Given the description of an element on the screen output the (x, y) to click on. 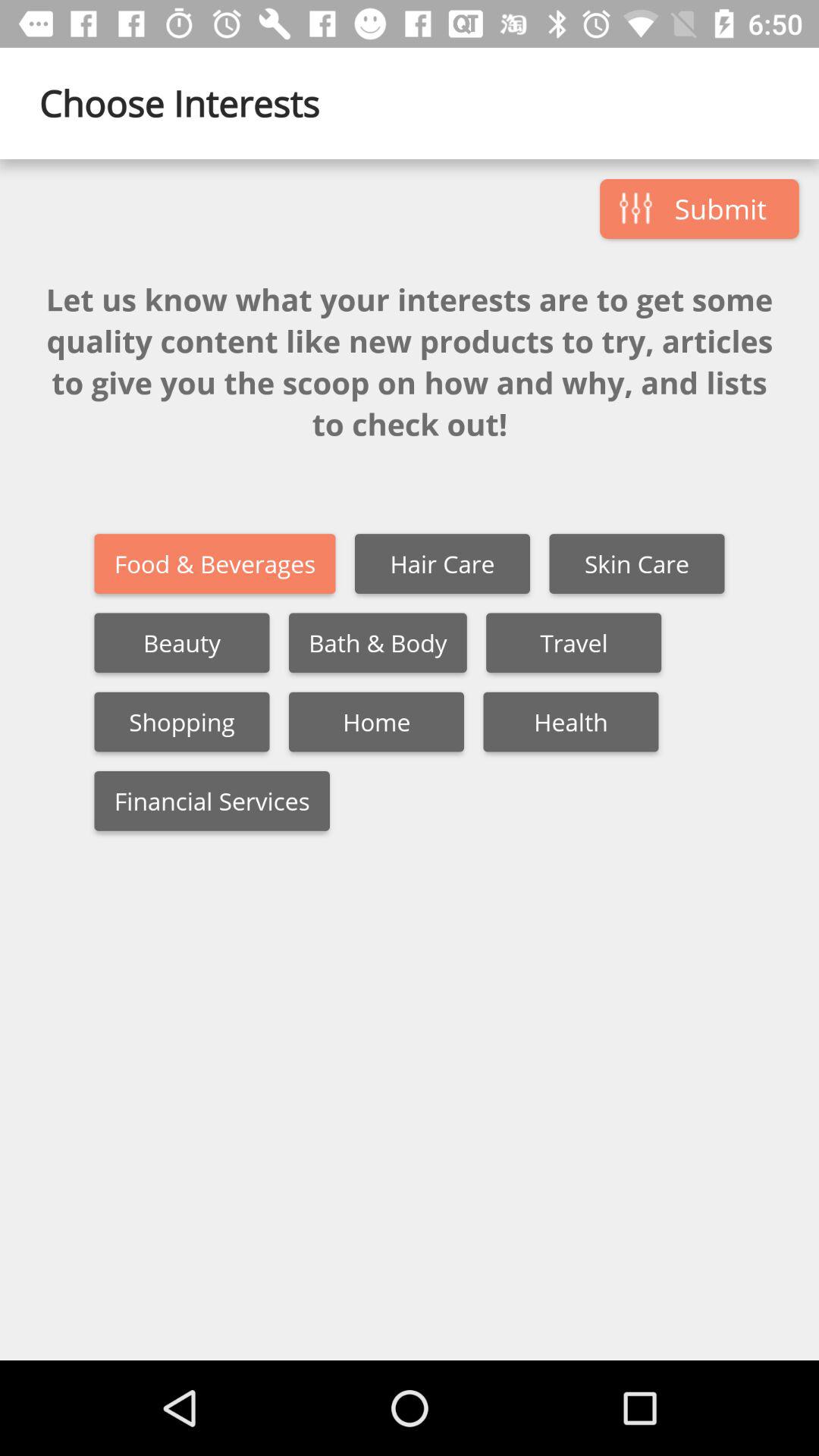
choose the icon below bath & body icon (376, 721)
